Given the description of an element on the screen output the (x, y) to click on. 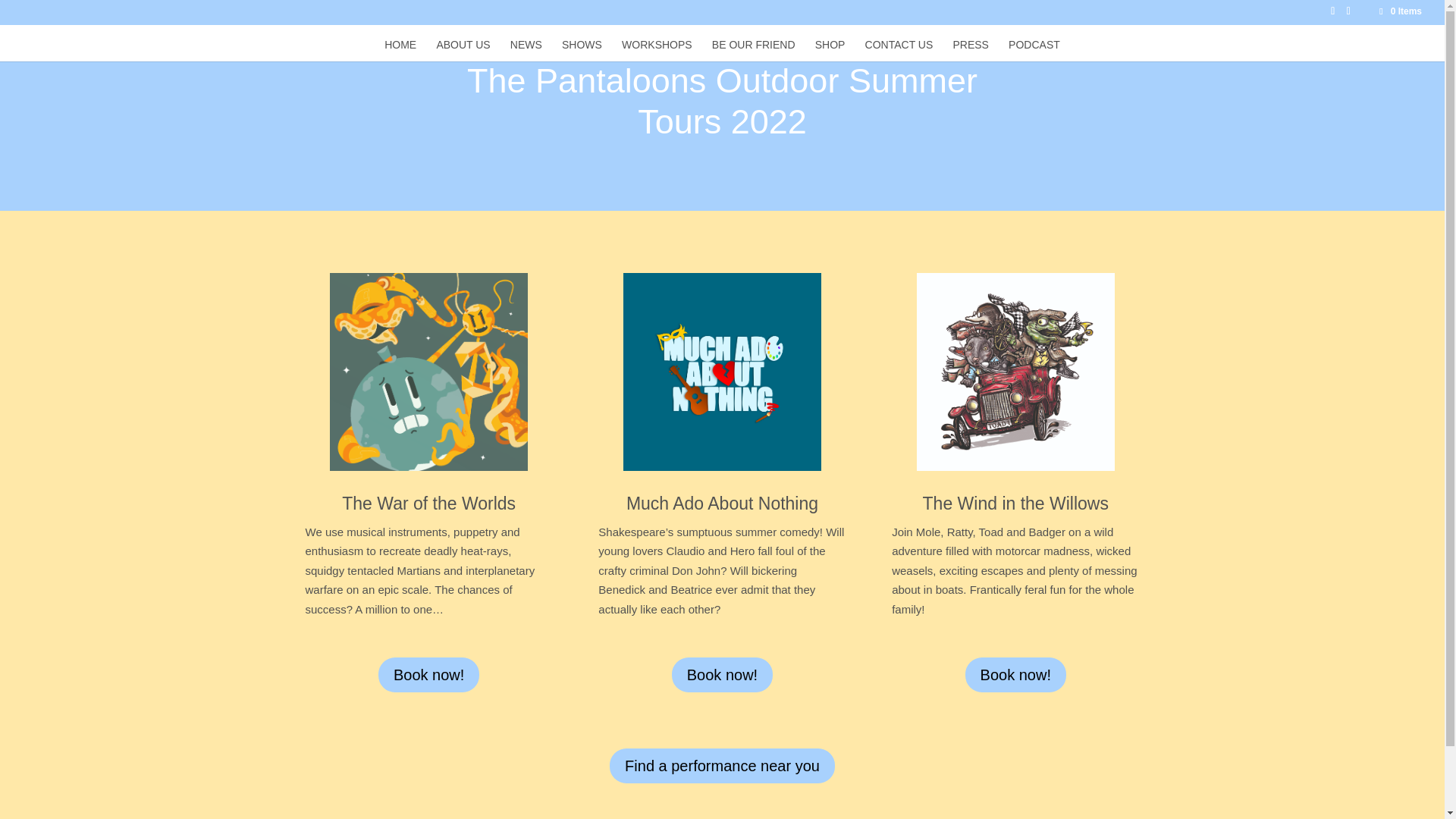
0 Items (1399, 10)
PRESS (970, 50)
SHOP (830, 50)
Book now! (722, 674)
PODCAST (1034, 50)
Book now! (1015, 674)
SHOWS (582, 50)
BE OUR FRIEND (752, 50)
NEWS (526, 50)
ABOUT US (462, 50)
CONTACT US (898, 50)
HOME (400, 50)
Find a performance near you (722, 765)
Book now! (428, 674)
WORKSHOPS (657, 50)
